Given the description of an element on the screen output the (x, y) to click on. 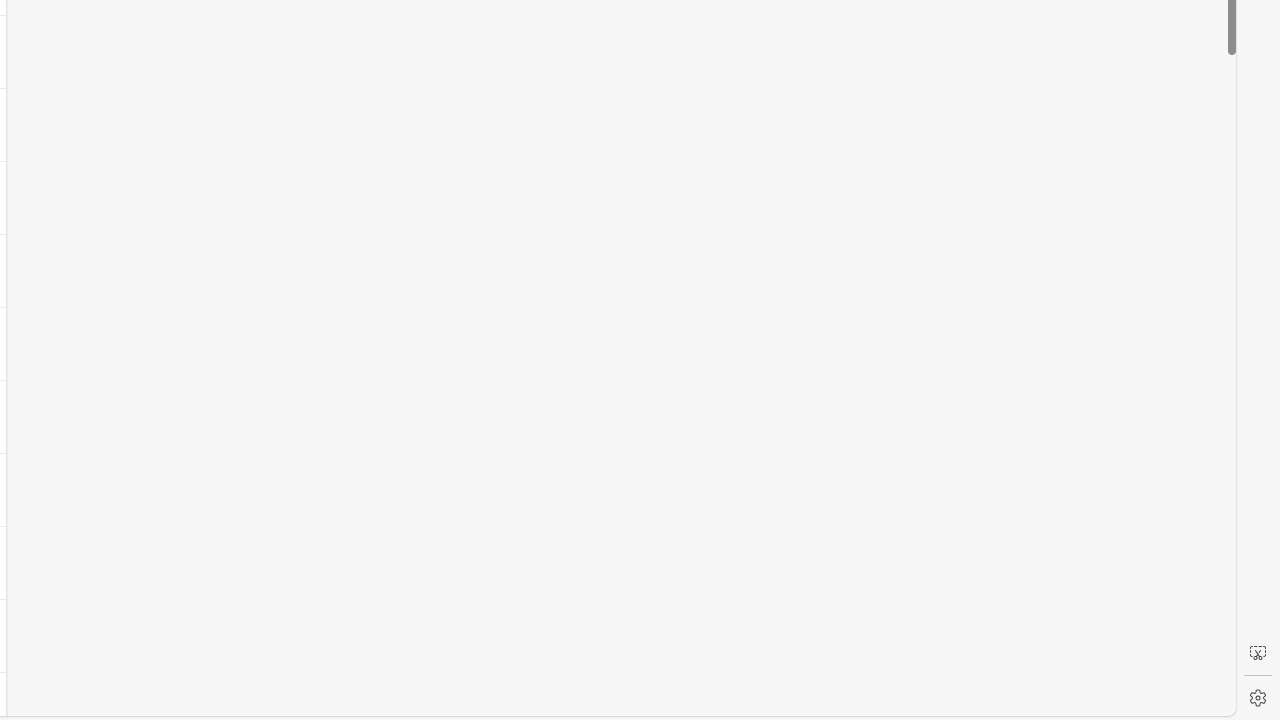
Settings Element type: push-button (1258, 698)
Screenshot Element type: push-button (1258, 653)
